Given the description of an element on the screen output the (x, y) to click on. 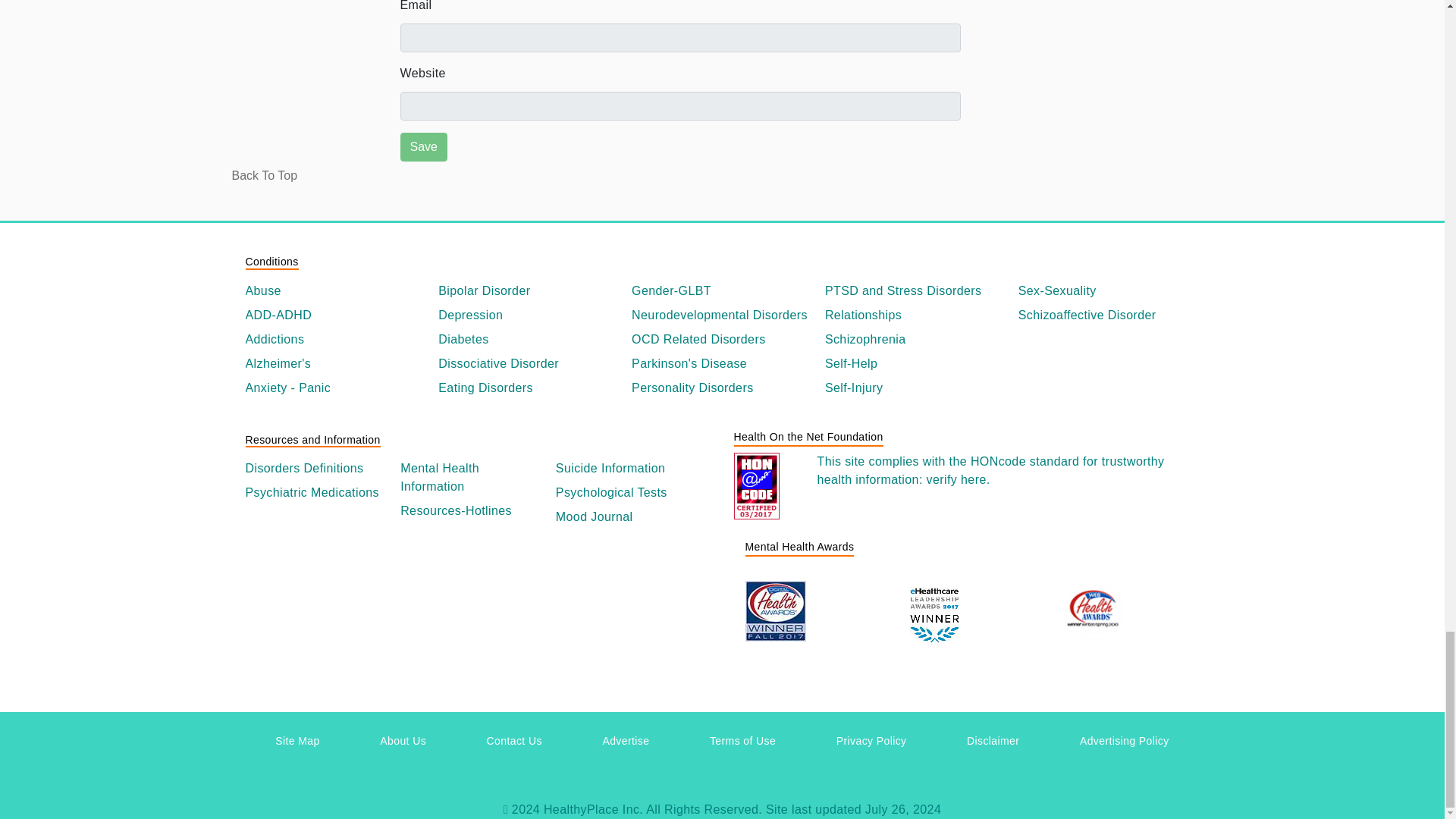
Parkinson's Disease Information Articles (721, 363)
